Given the description of an element on the screen output the (x, y) to click on. 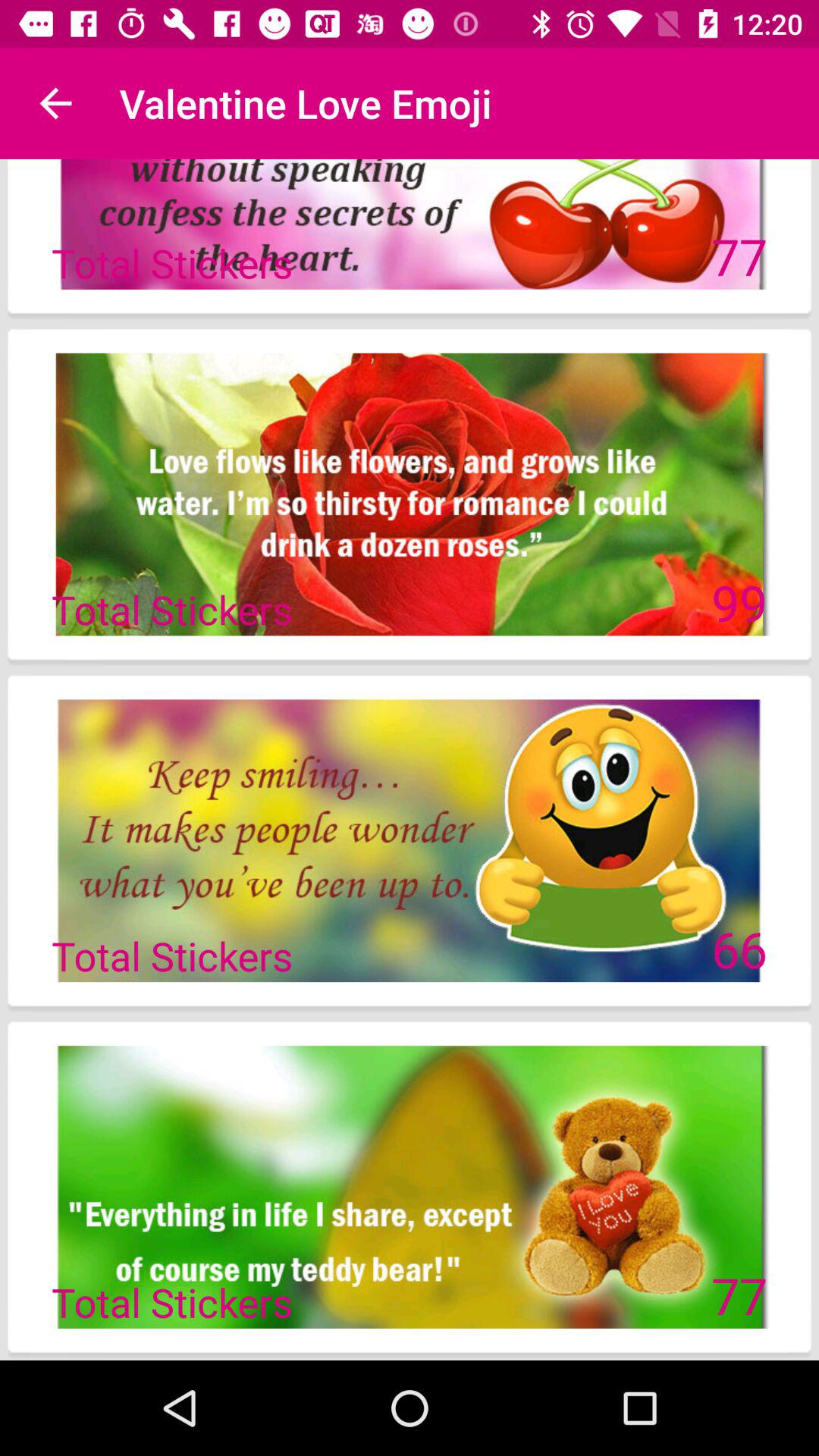
choose 99 icon (739, 602)
